Given the description of an element on the screen output the (x, y) to click on. 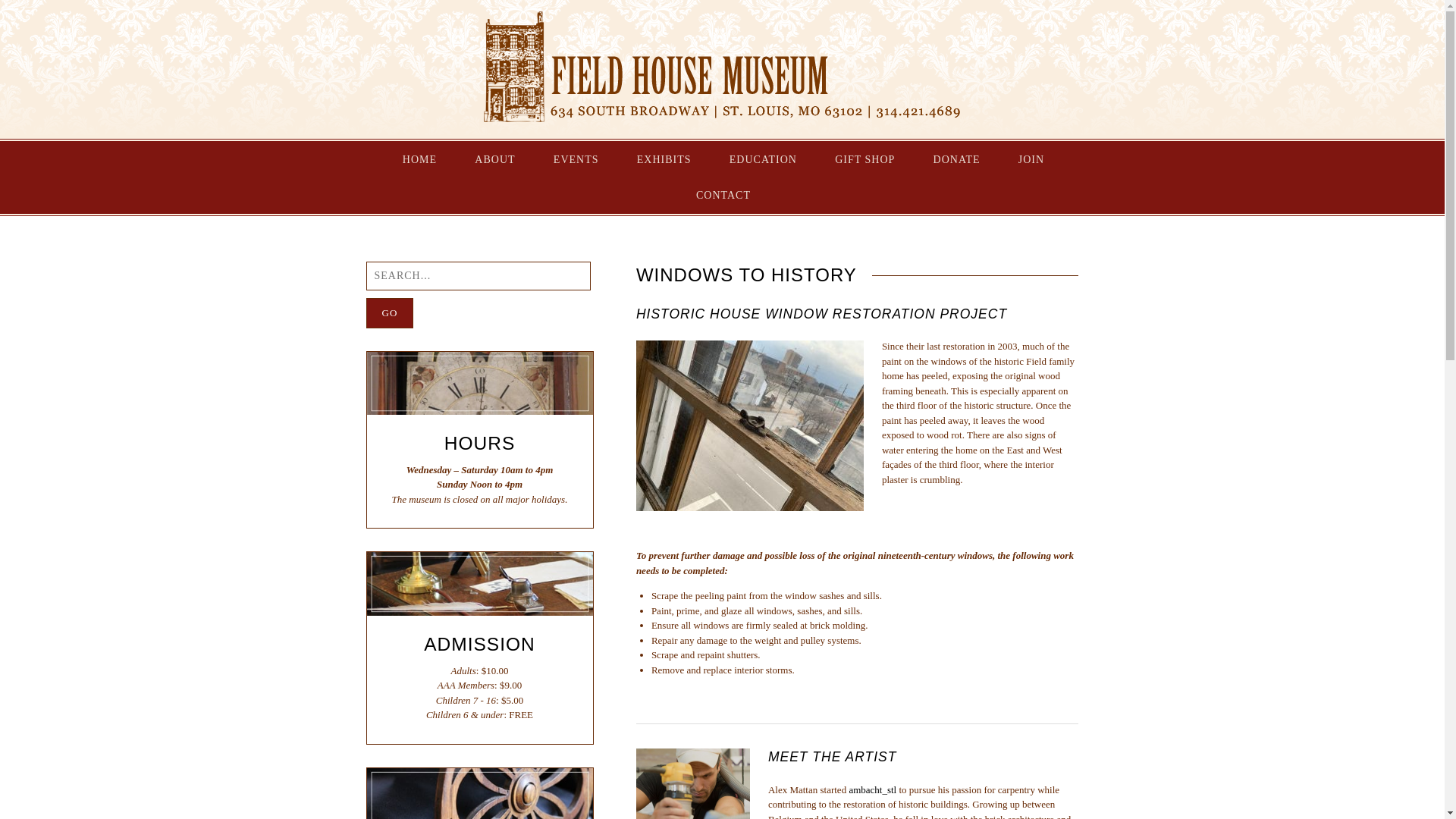
HOME (419, 159)
Go (389, 313)
ABOUT (494, 159)
